Given the description of an element on the screen output the (x, y) to click on. 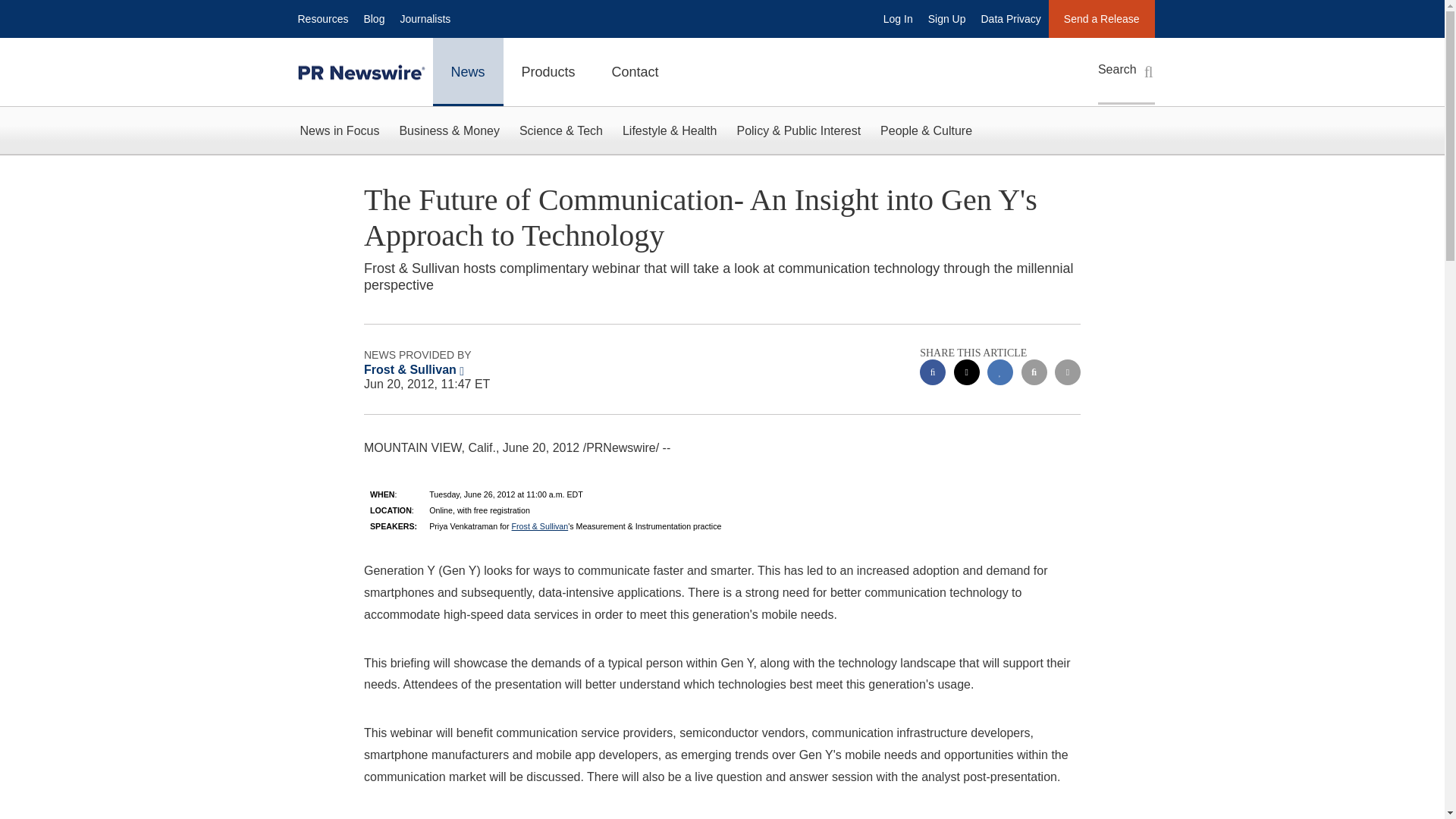
News in Focus (338, 130)
News (467, 71)
Data Privacy (1011, 18)
Send a Release (1101, 18)
Contact (635, 71)
Log In (898, 18)
Journalists (424, 18)
News in Focus (338, 130)
Blog (373, 18)
Products (548, 71)
Sign Up (947, 18)
Resources (322, 18)
